Given the description of an element on the screen output the (x, y) to click on. 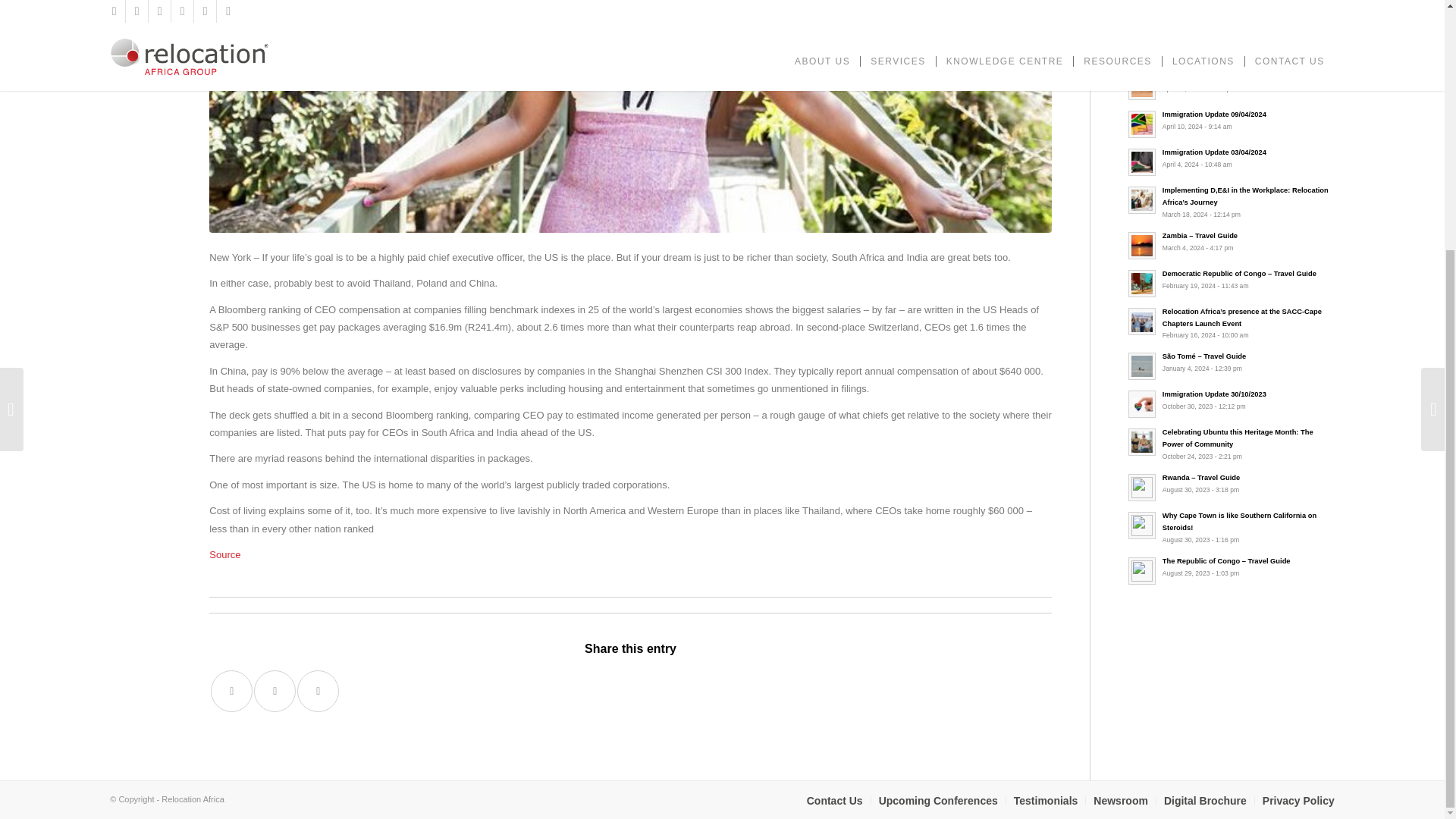
Source (224, 554)
